Given the description of an element on the screen output the (x, y) to click on. 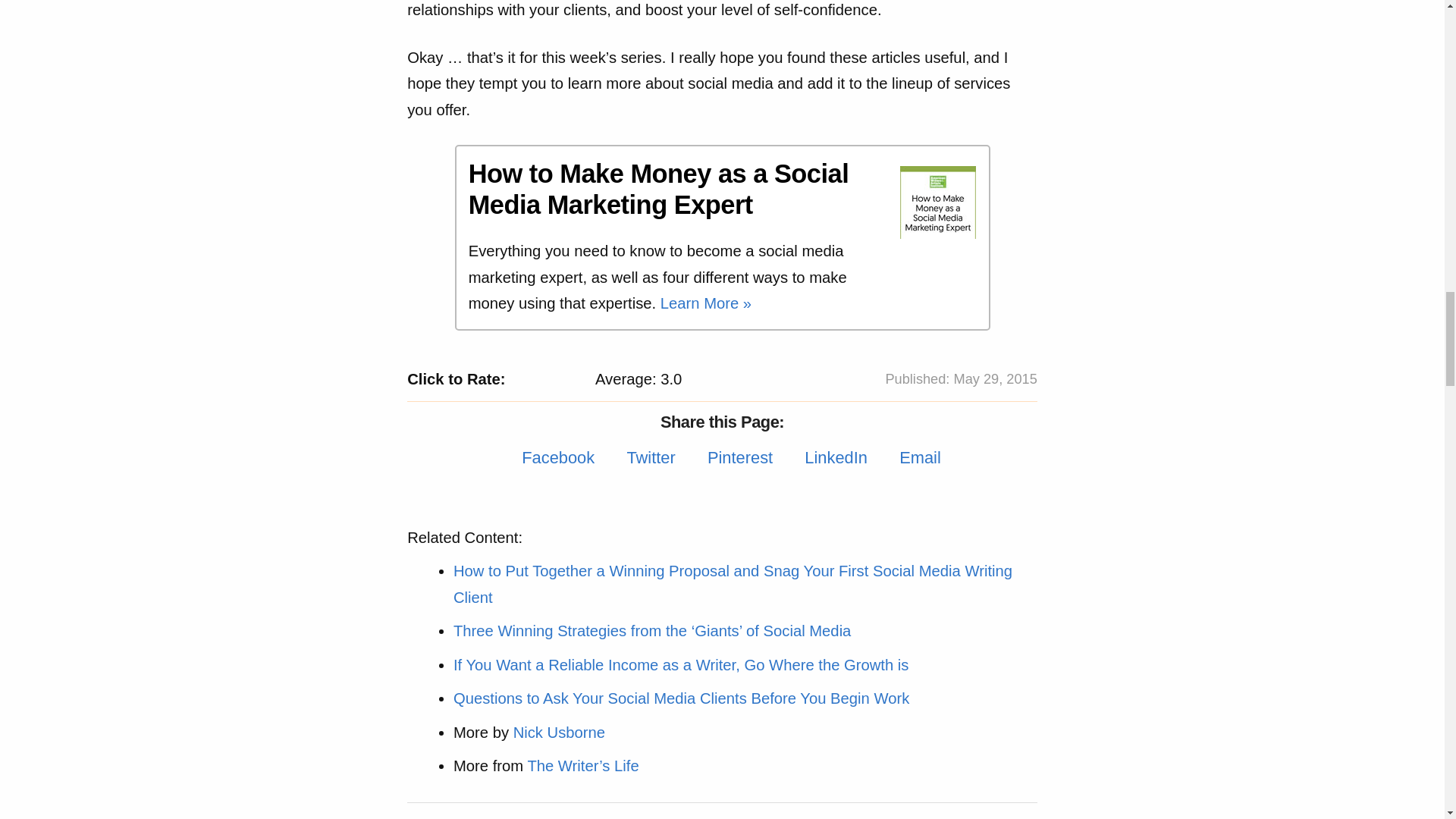
Rate this 2 out of 5 (535, 378)
Rate this 1 out of 5 (519, 378)
Rate this 4 out of 5 (565, 378)
Rate this 5 out of 5 (580, 378)
Rate this 3 out of 5 (550, 378)
